Given the description of an element on the screen output the (x, y) to click on. 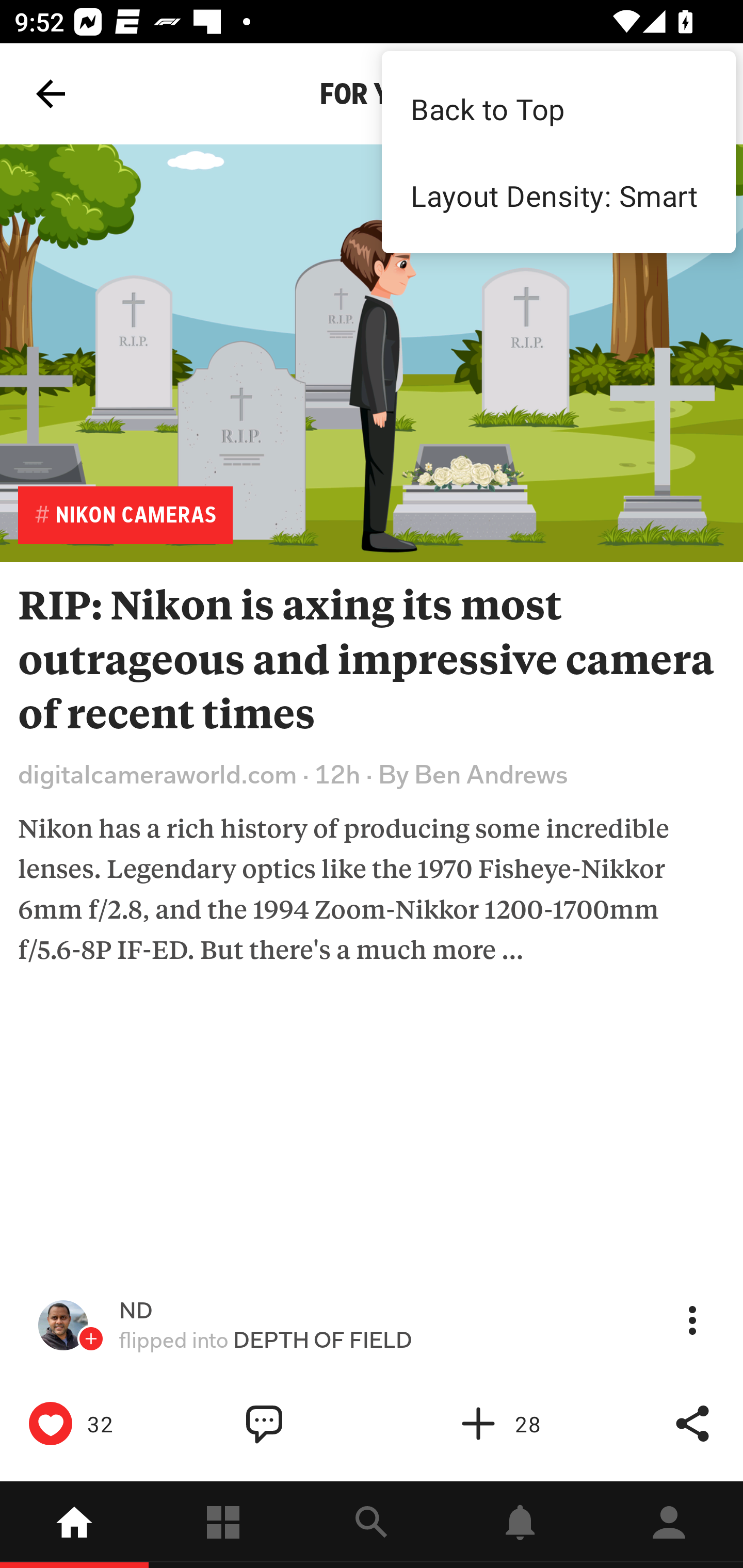
Back to Top (558, 108)
Layout Density: Smart (558, 195)
